Given the description of an element on the screen output the (x, y) to click on. 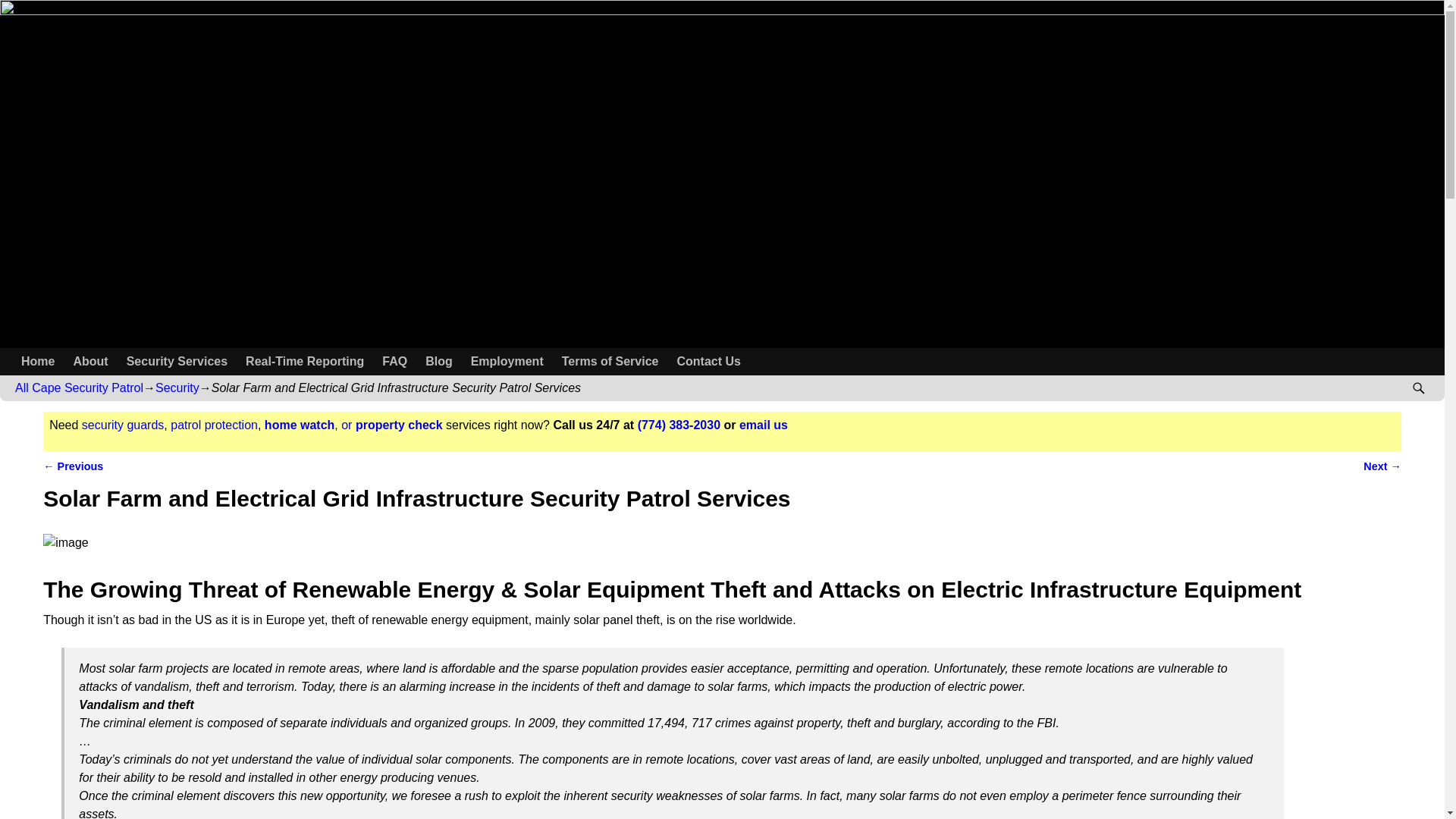
FAQ (394, 361)
Security (177, 387)
Blog (438, 361)
Employment (507, 361)
Security Services (176, 361)
All Cape Security Patrol (78, 387)
Terms of Service (610, 361)
Contact Us (707, 361)
Home (37, 361)
home watch, or property check (353, 424)
